Given the description of an element on the screen output the (x, y) to click on. 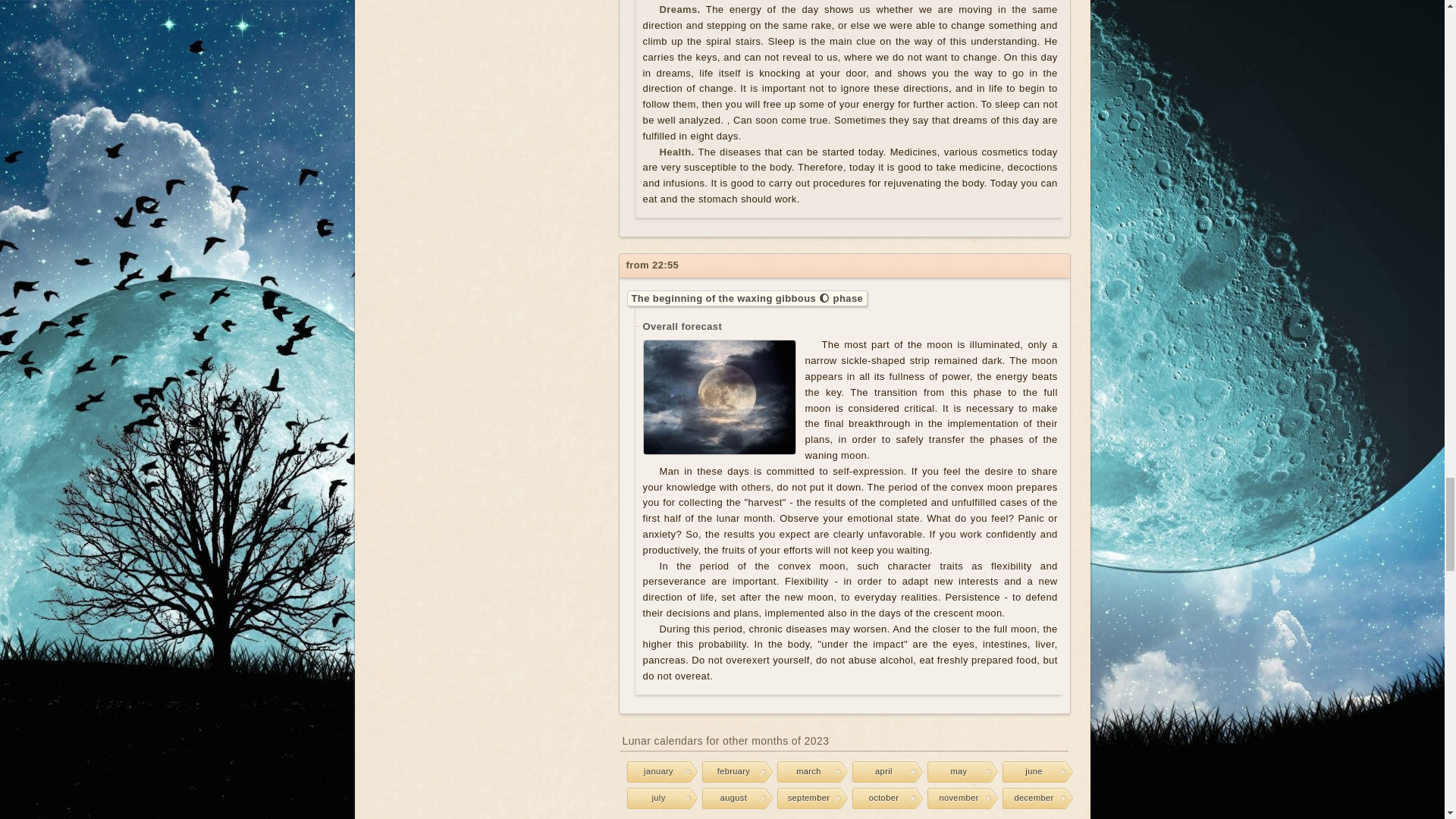
january (655, 772)
june (1031, 772)
february (730, 772)
march (805, 772)
april (880, 772)
may (956, 772)
